Given the description of an element on the screen output the (x, y) to click on. 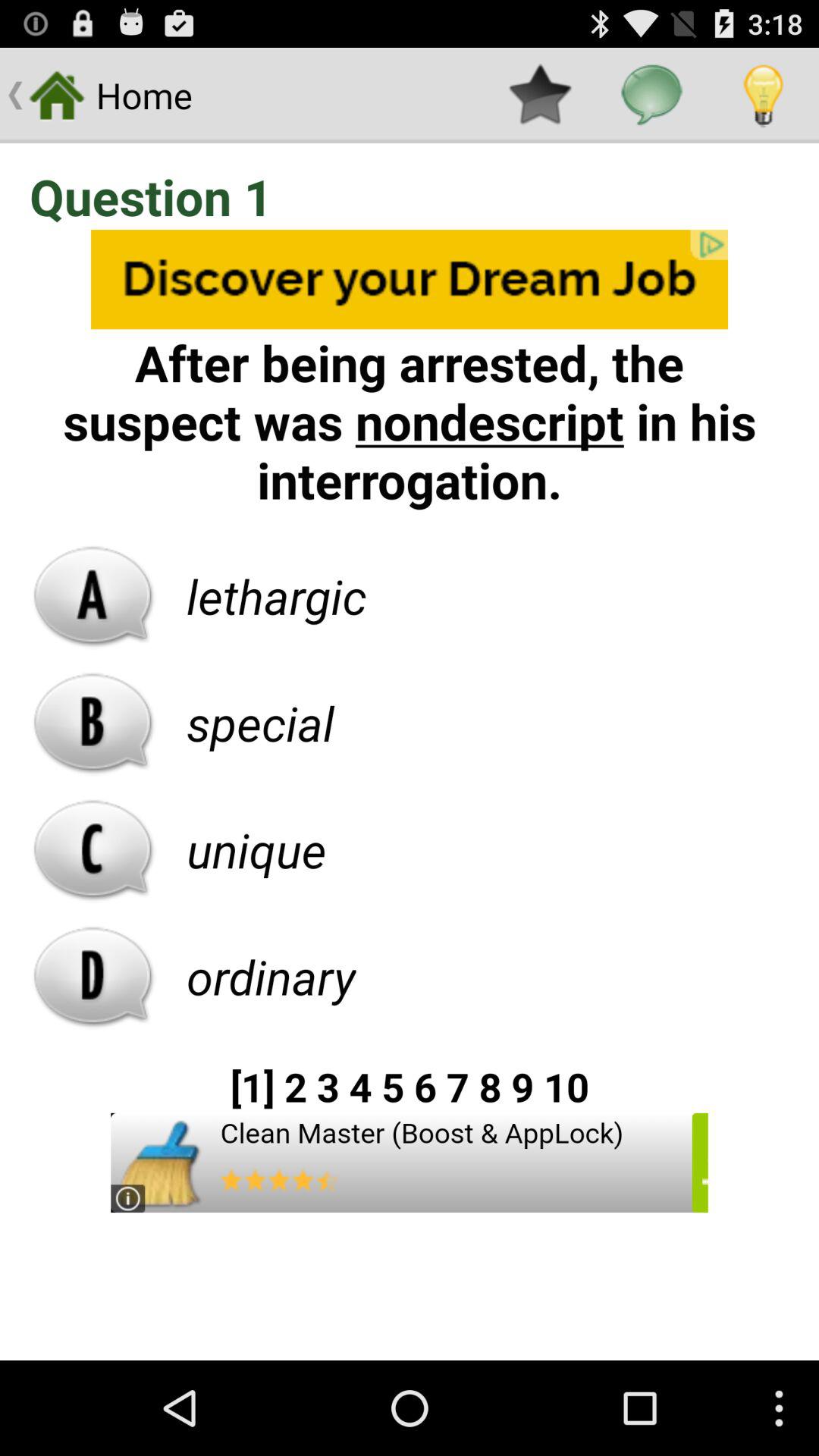
clean master iceon (409, 1162)
